Given the description of an element on the screen output the (x, y) to click on. 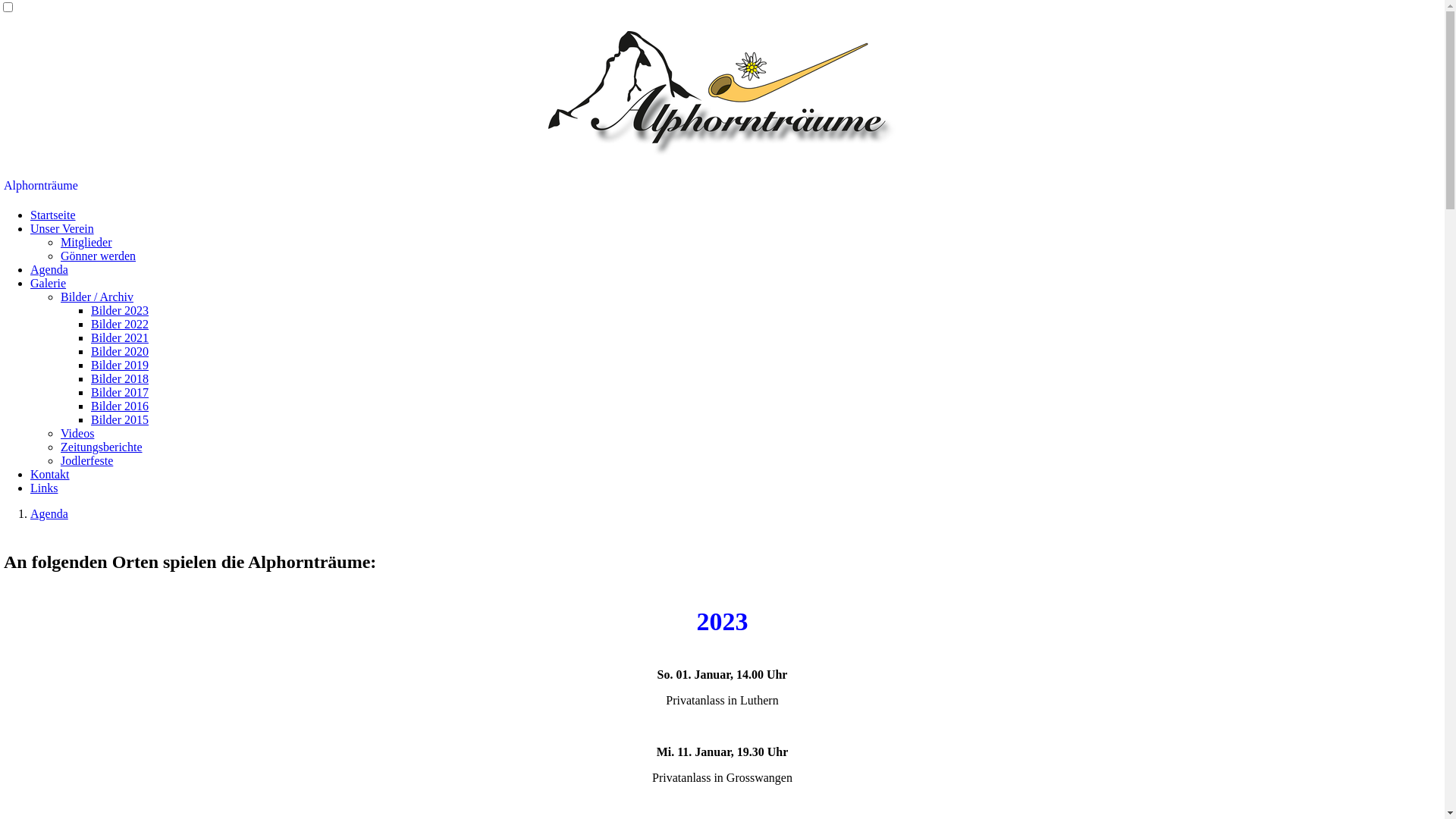
Bilder 2019 Element type: text (119, 364)
Bilder 2022 Element type: text (119, 323)
Bilder 2018 Element type: text (119, 378)
Bilder 2020 Element type: text (119, 351)
Unser Verein Element type: text (62, 228)
Bilder 2023 Element type: text (119, 310)
Mitglieder Element type: text (86, 241)
Jodlerfeste Element type: text (86, 460)
Kontakt Element type: text (49, 473)
Bilder / Archiv Element type: text (96, 296)
Bilder 2021 Element type: text (119, 337)
Links Element type: text (43, 487)
Bilder 2015 Element type: text (119, 419)
Bilder 2016 Element type: text (119, 405)
Agenda Element type: text (49, 513)
Startseite Element type: text (52, 214)
Videos Element type: text (77, 432)
Galerie Element type: text (47, 282)
Bilder 2017 Element type: text (119, 391)
Zeitungsberichte Element type: text (101, 446)
Agenda Element type: text (49, 269)
